Given the description of an element on the screen output the (x, y) to click on. 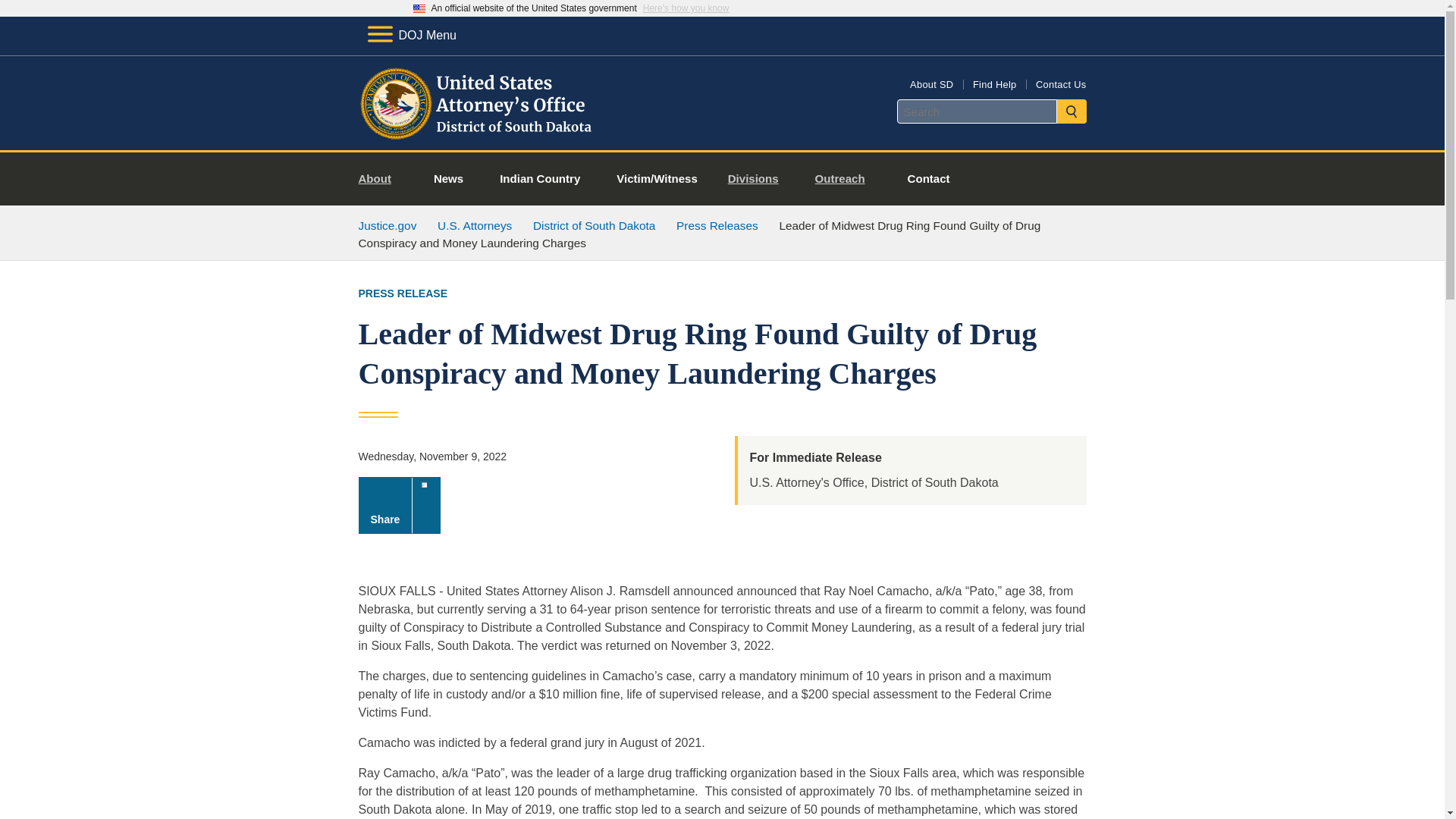
Press Releases (717, 225)
Divisions (759, 179)
News (447, 179)
Justice.gov (387, 225)
Share (398, 504)
Contact (928, 179)
Contact Us (1060, 84)
Here's how you know (686, 8)
Outreach (846, 179)
U.S. Attorneys (475, 225)
